Given the description of an element on the screen output the (x, y) to click on. 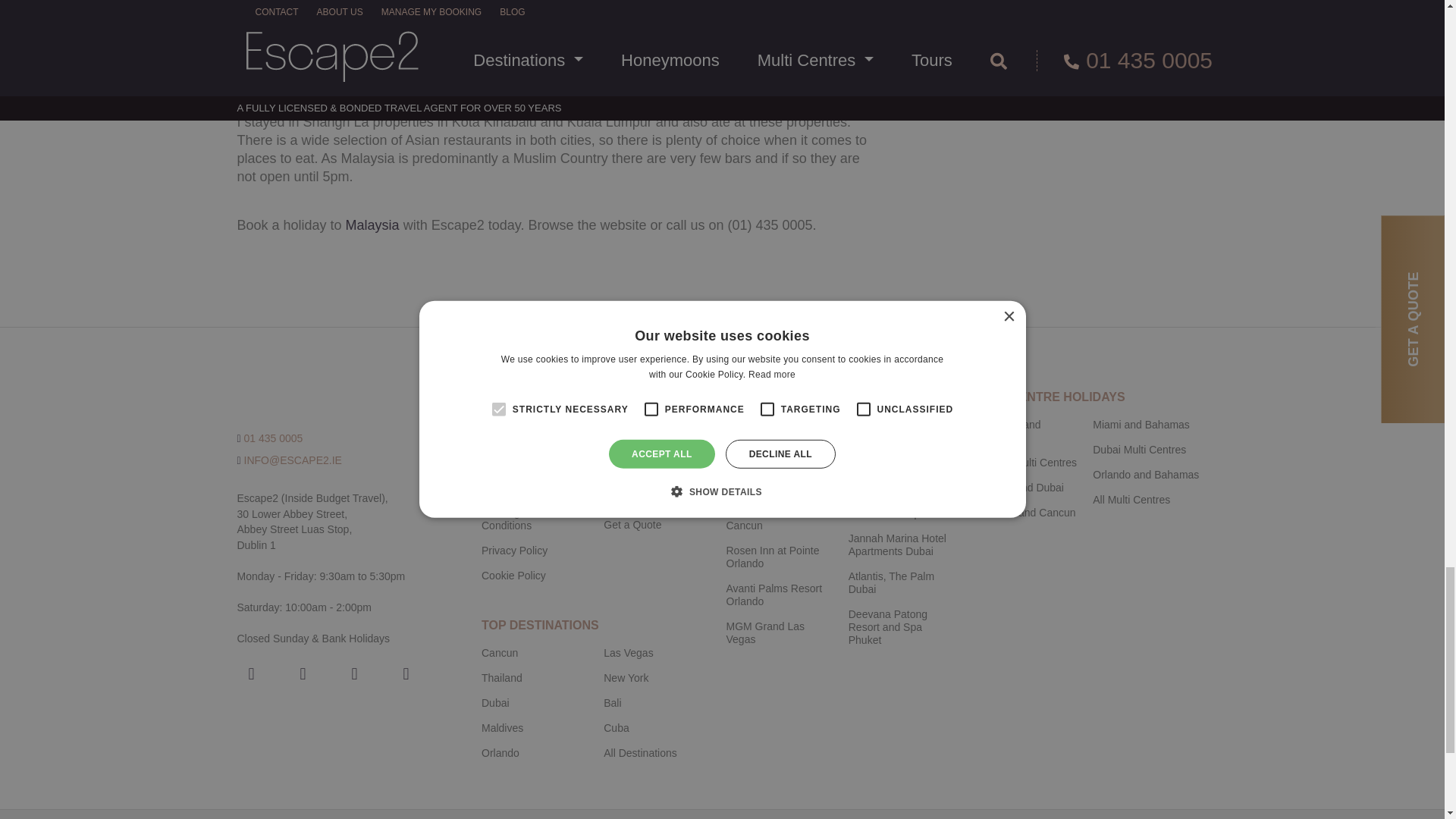
Escape2 on Instagram (302, 673)
Escape2 (320, 397)
Malaysia (372, 224)
Escape2 on Youtube (353, 673)
Escape2 on Twitter (405, 673)
Escape2 on Facebook (249, 673)
